Given the description of an element on the screen output the (x, y) to click on. 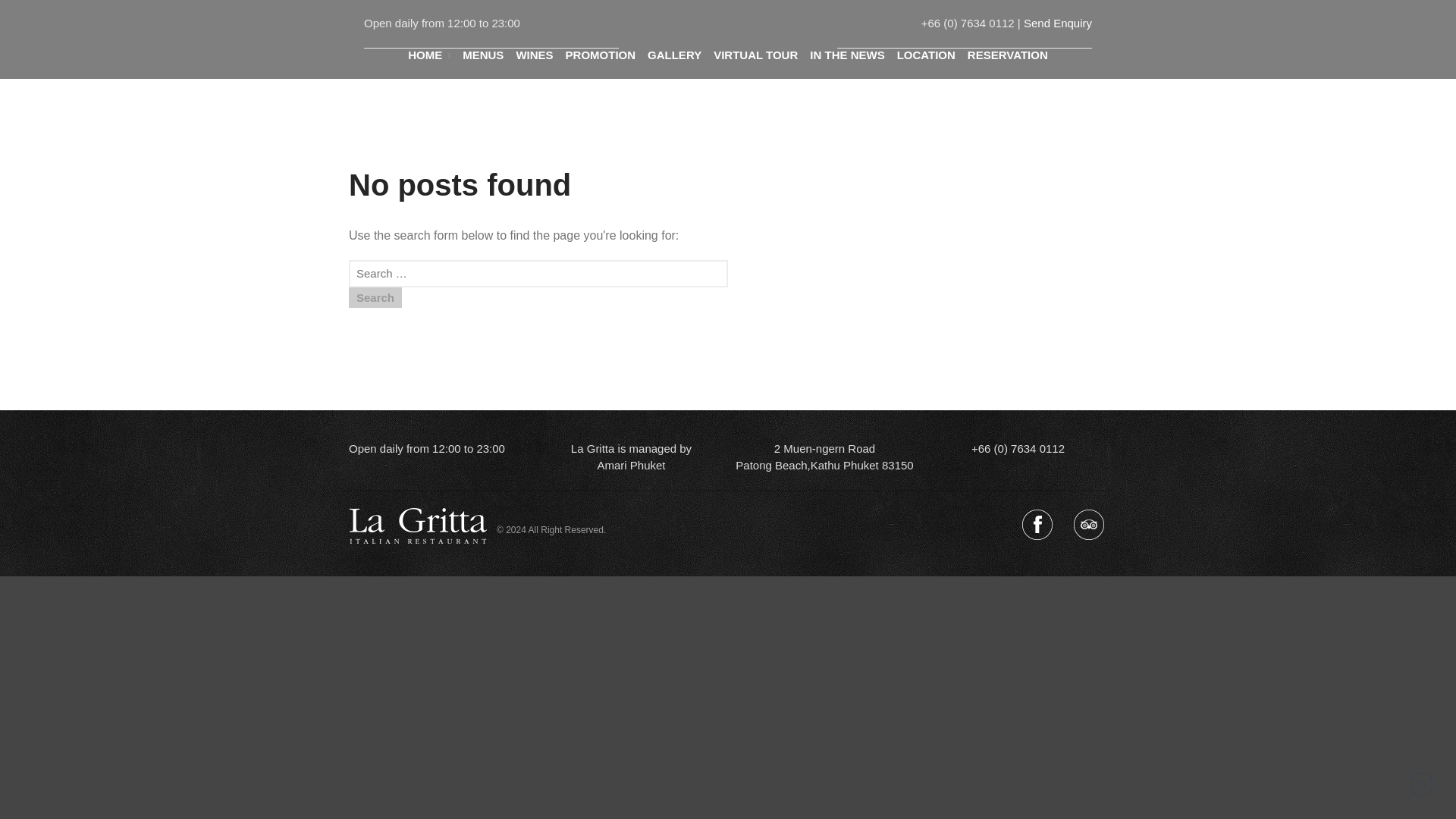
facebook (1037, 524)
WINES (534, 54)
IN THE NEWS (846, 54)
HOME (428, 54)
RESERVATION (1007, 54)
Tripadvisor (1088, 524)
Send Enquiry (1057, 22)
La Gritta - Italian Restaurant (819, 42)
Search (1368, 335)
Search (375, 297)
Search (375, 297)
VIRTUAL TOUR (755, 54)
MENUS (483, 54)
Search (375, 297)
GALLERY (674, 54)
